Given the description of an element on the screen output the (x, y) to click on. 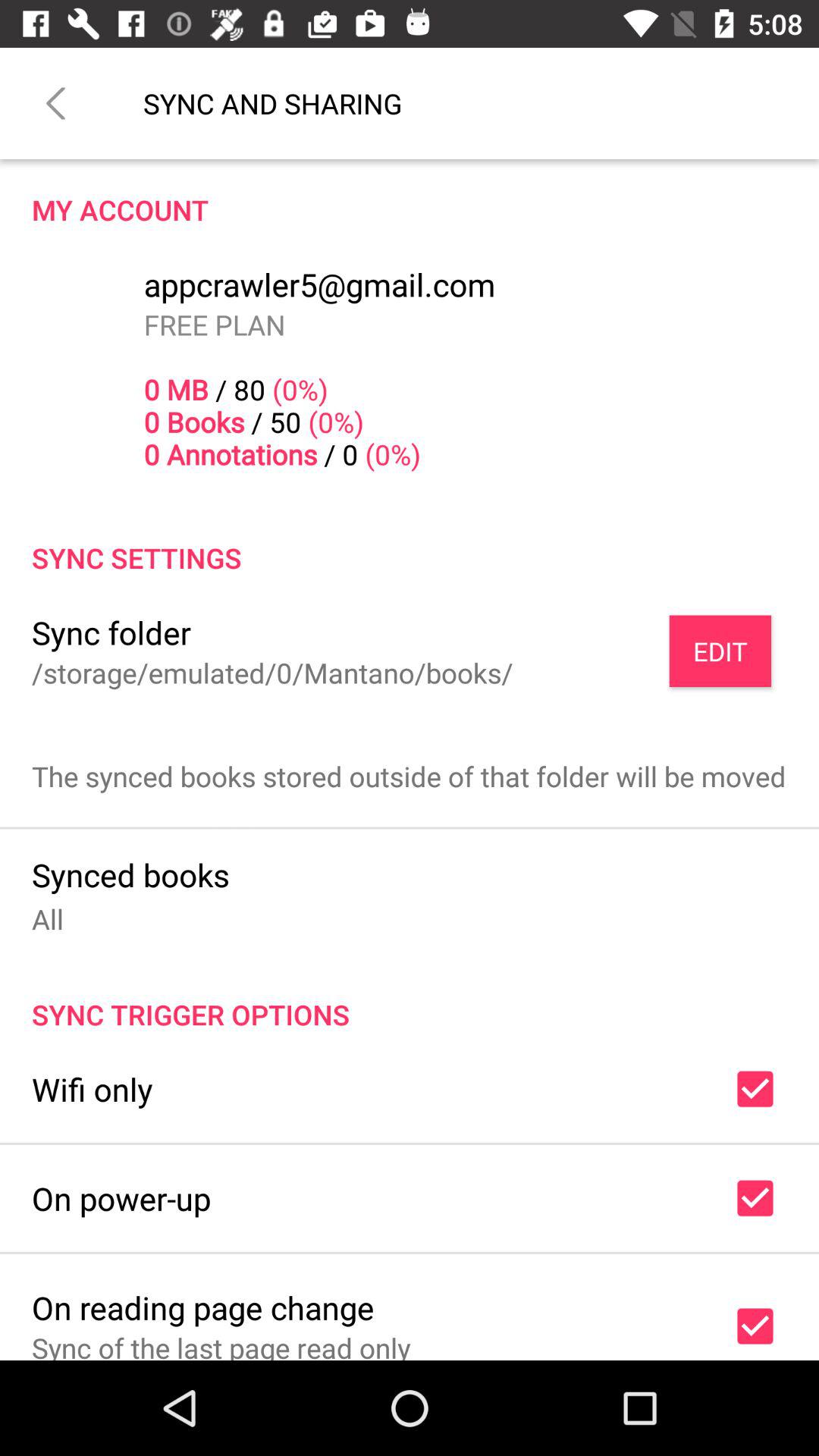
turn on the icon above the on reading page item (121, 1197)
